Given the description of an element on the screen output the (x, y) to click on. 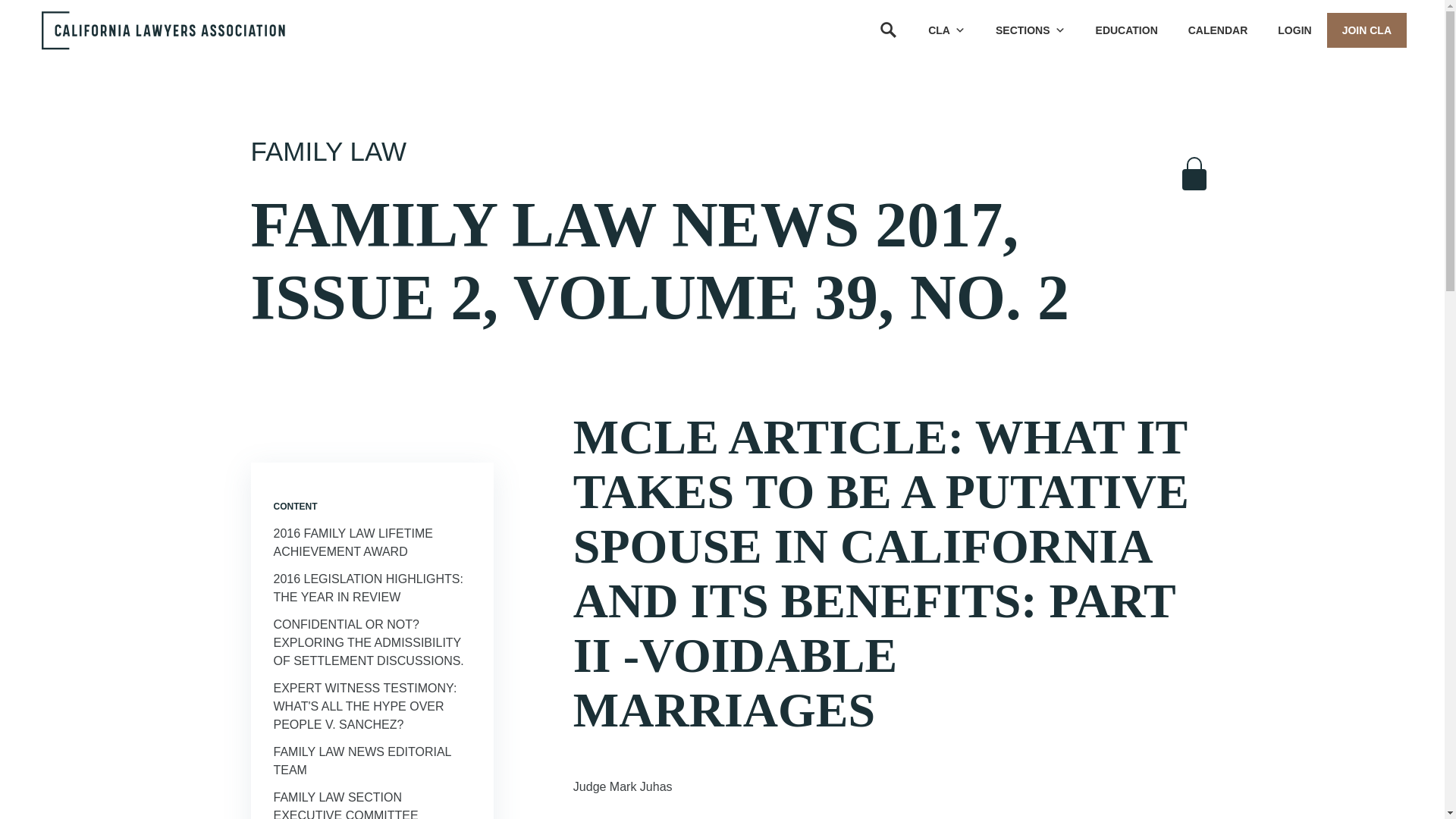
SECTIONS (1029, 30)
Family Law Section Executive Committee (345, 805)
CLA (945, 30)
Family Law News Editorial Team (361, 760)
2016 Family Law Lifetime Achievement Award (352, 542)
2016 Legislation Highlights: the Year in Review (368, 587)
